Given the description of an element on the screen output the (x, y) to click on. 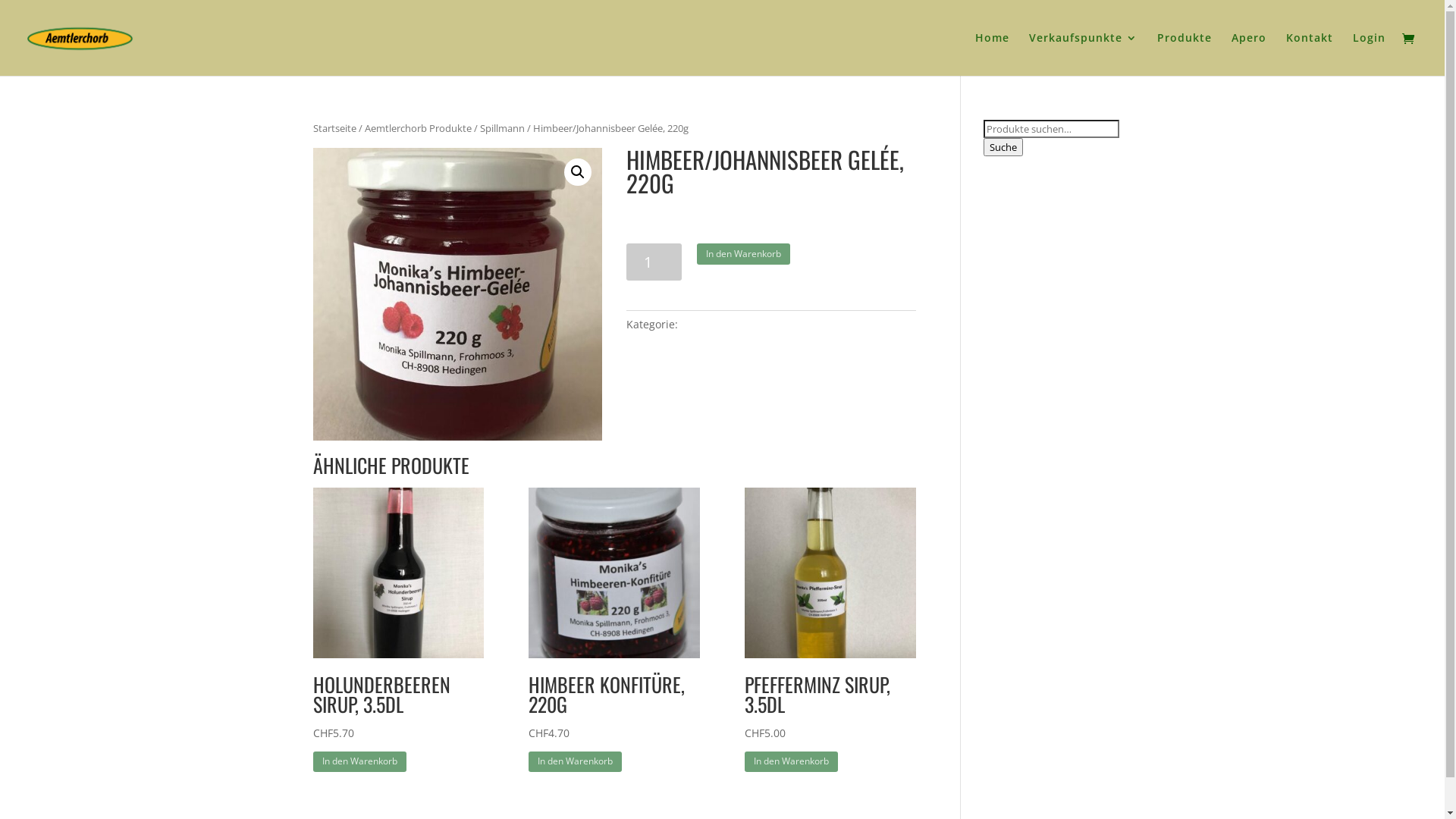
HOLUNDERBEEREN SIRUP, 3.5DL
CHF5.70 Element type: text (397, 627)
In den Warenkorb Element type: text (743, 253)
Spillmann Element type: text (706, 323)
Apero Element type: text (1248, 53)
In den Warenkorb Element type: text (790, 761)
PFEFFERMINZ SIRUP, 3.5DL
CHF5.00 Element type: text (829, 627)
Startseite Element type: text (333, 127)
In den Warenkorb Element type: text (358, 761)
Verkaufspunkte Element type: text (1083, 53)
Home Element type: text (992, 53)
In den Warenkorb Element type: text (574, 761)
Produkte Element type: text (1184, 53)
Login Element type: text (1368, 53)
Suche Element type: text (1002, 147)
Aemtlerchorb Produkte Element type: text (417, 127)
Kontakt Element type: text (1309, 53)
Spillmann Element type: text (501, 127)
